Given the description of an element on the screen output the (x, y) to click on. 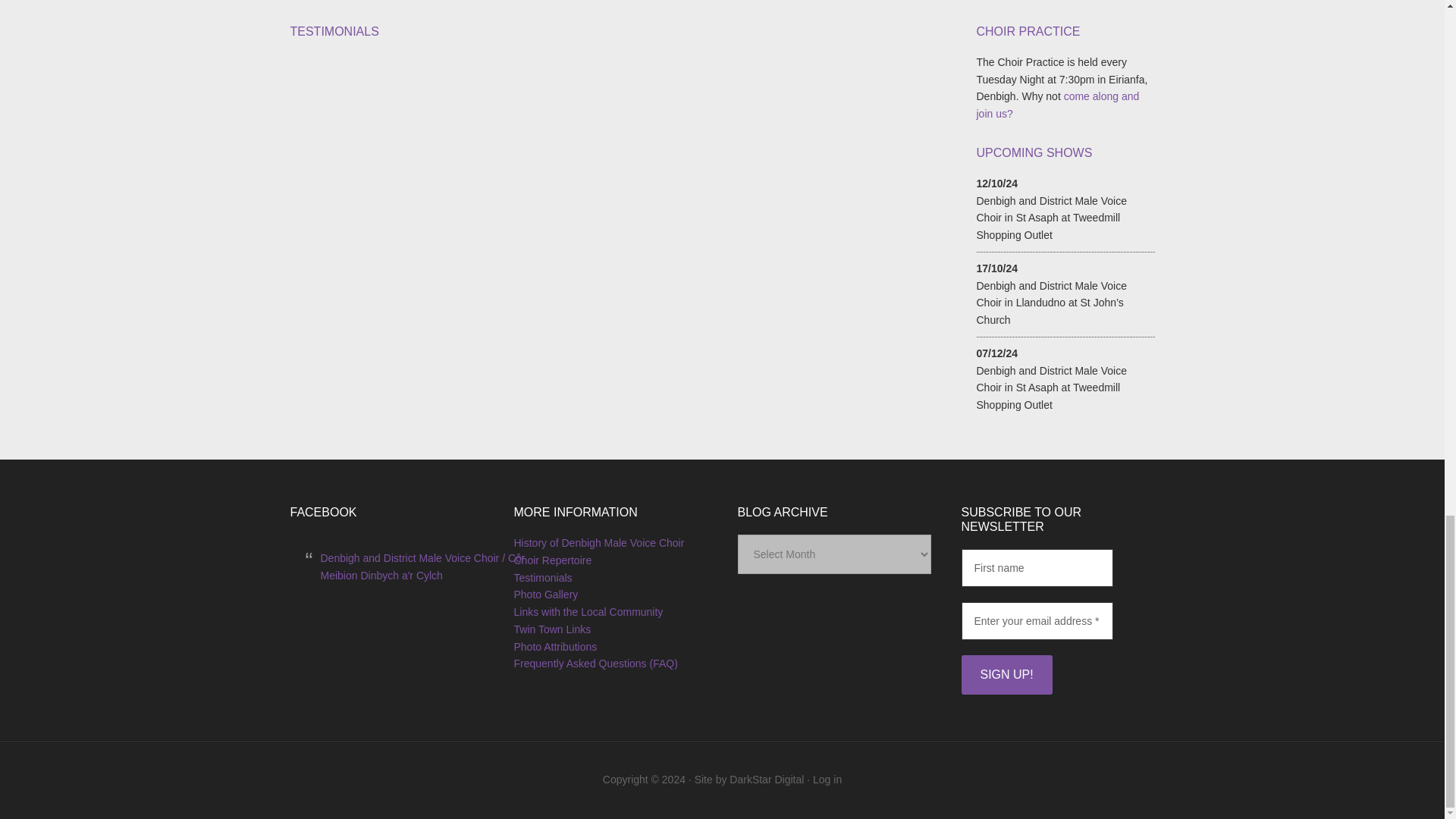
come along and join us? (1058, 104)
Sign up! (1006, 674)
Twin Town Links (552, 629)
Photo Gallery (545, 594)
History of Denbigh Male Voice Choir (598, 542)
Enter your email address (1036, 620)
DarkStar Digital (766, 779)
Choir Repertoire (552, 560)
Sign up! (1006, 674)
Links with the Local Community (588, 612)
